Given the description of an element on the screen output the (x, y) to click on. 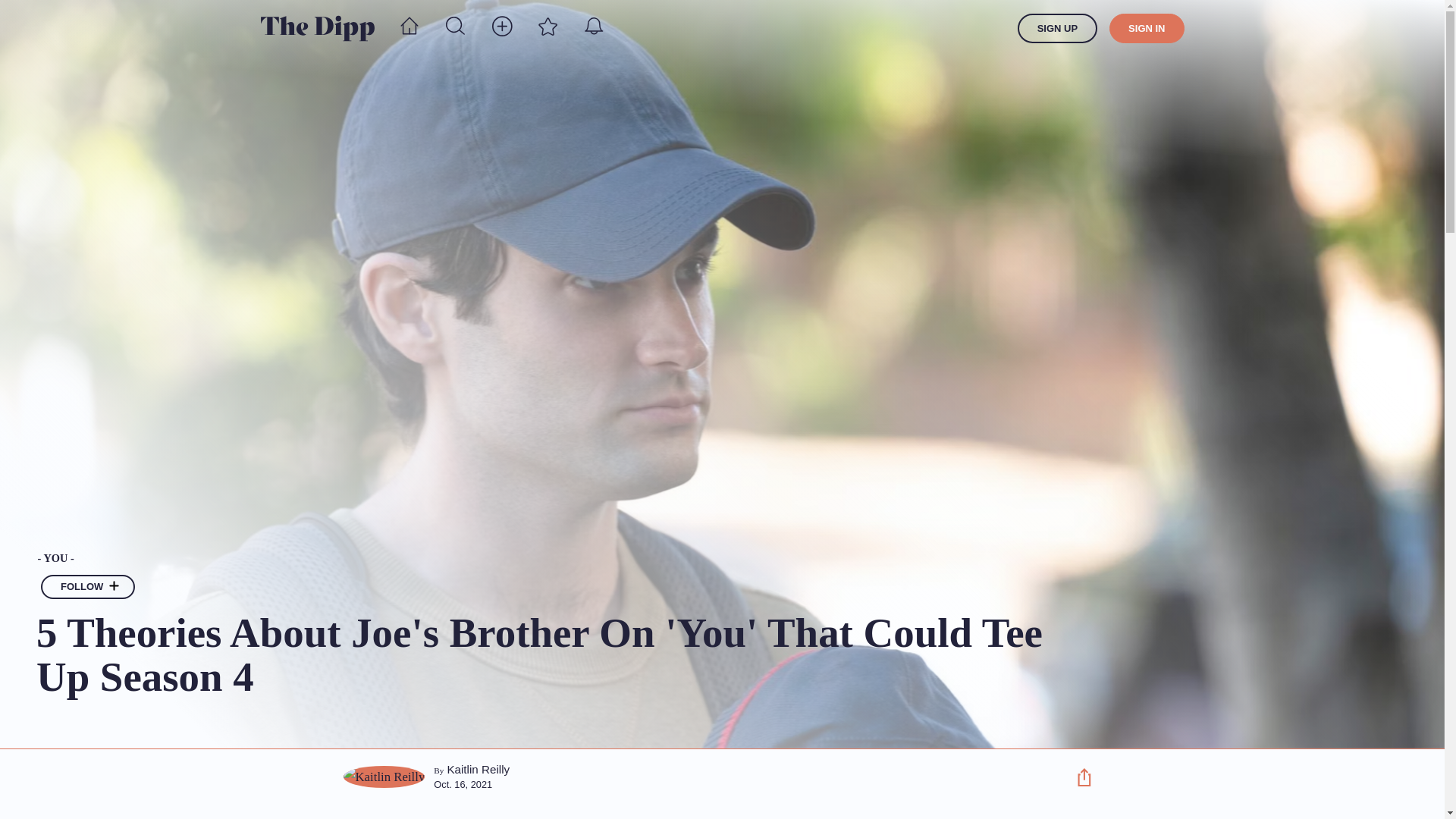
Kaitlin Reilly (477, 768)
SIGN IN (1146, 28)
Dipp (317, 28)
- YOU - (542, 559)
SIGN UP (1057, 28)
FOLLOW (87, 586)
